Given the description of an element on the screen output the (x, y) to click on. 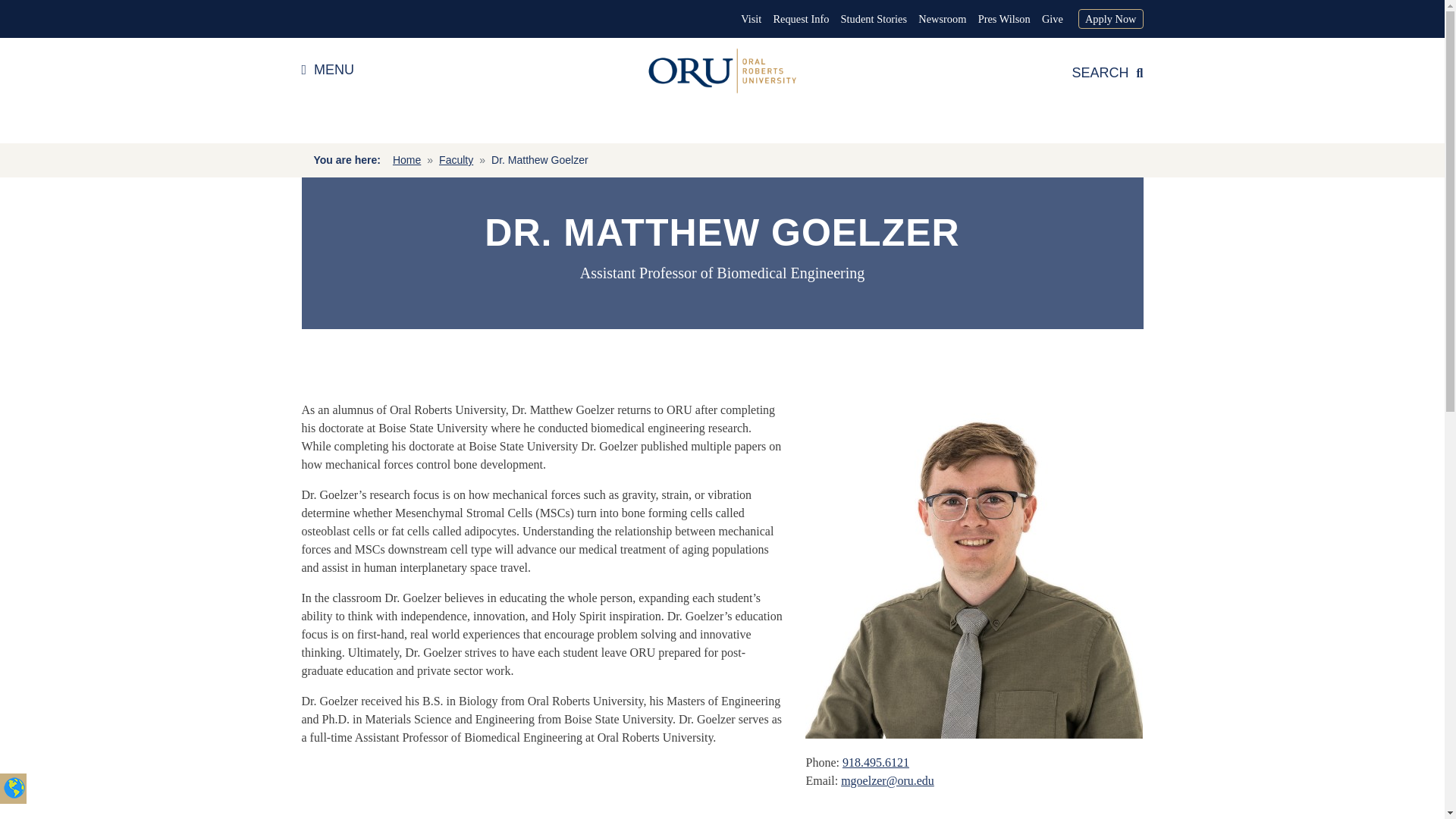
Newsroom (942, 19)
SEARCH (1106, 72)
Visit (751, 19)
Apply Now (1110, 18)
Oral Roberts University (721, 70)
Give (1052, 19)
Pres Wilson (1004, 19)
Student Stories (874, 19)
Request Info (800, 19)
MENU (328, 69)
